Given the description of an element on the screen output the (x, y) to click on. 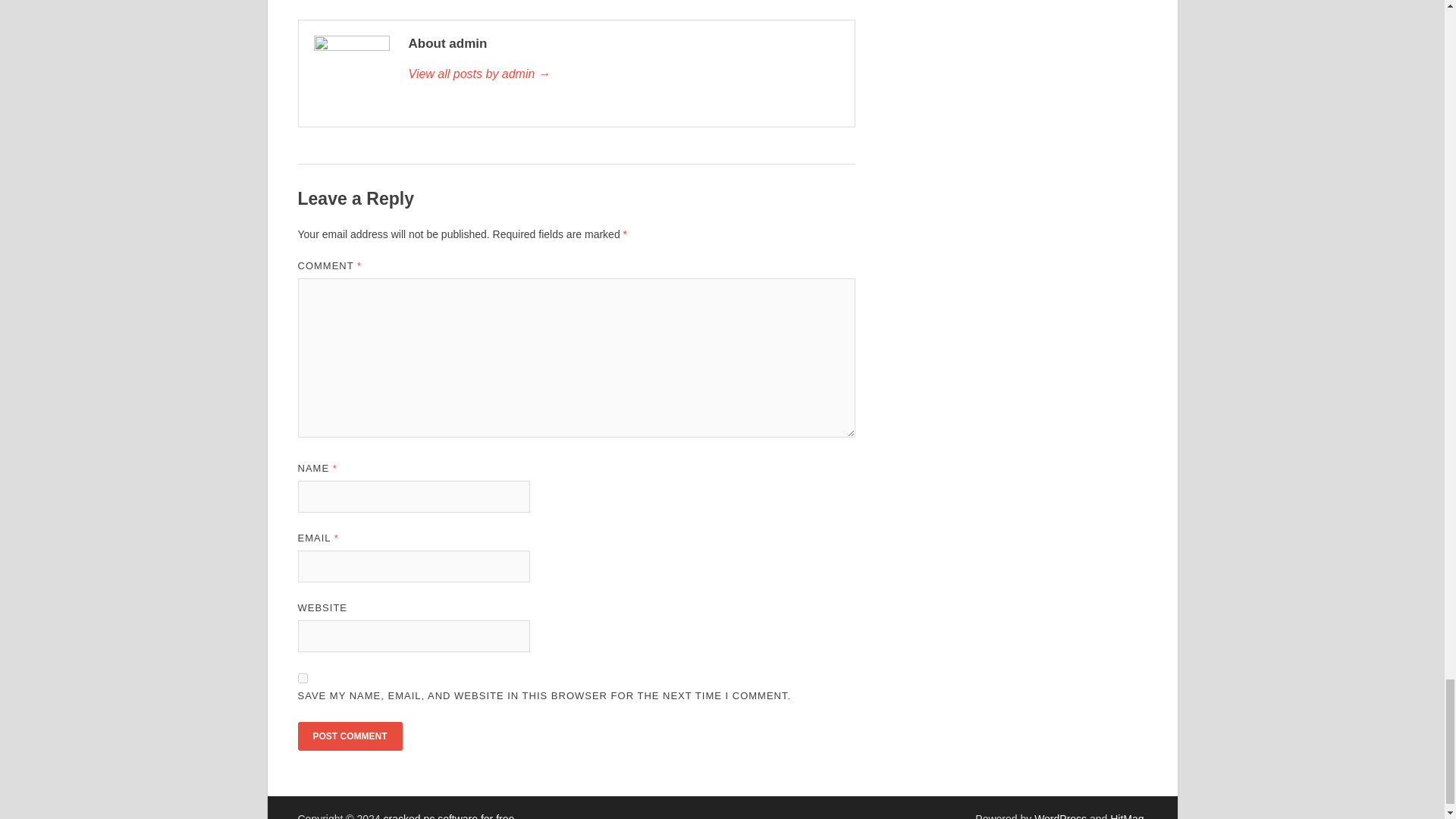
admin (622, 74)
Post Comment (349, 736)
yes (302, 678)
